Given the description of an element on the screen output the (x, y) to click on. 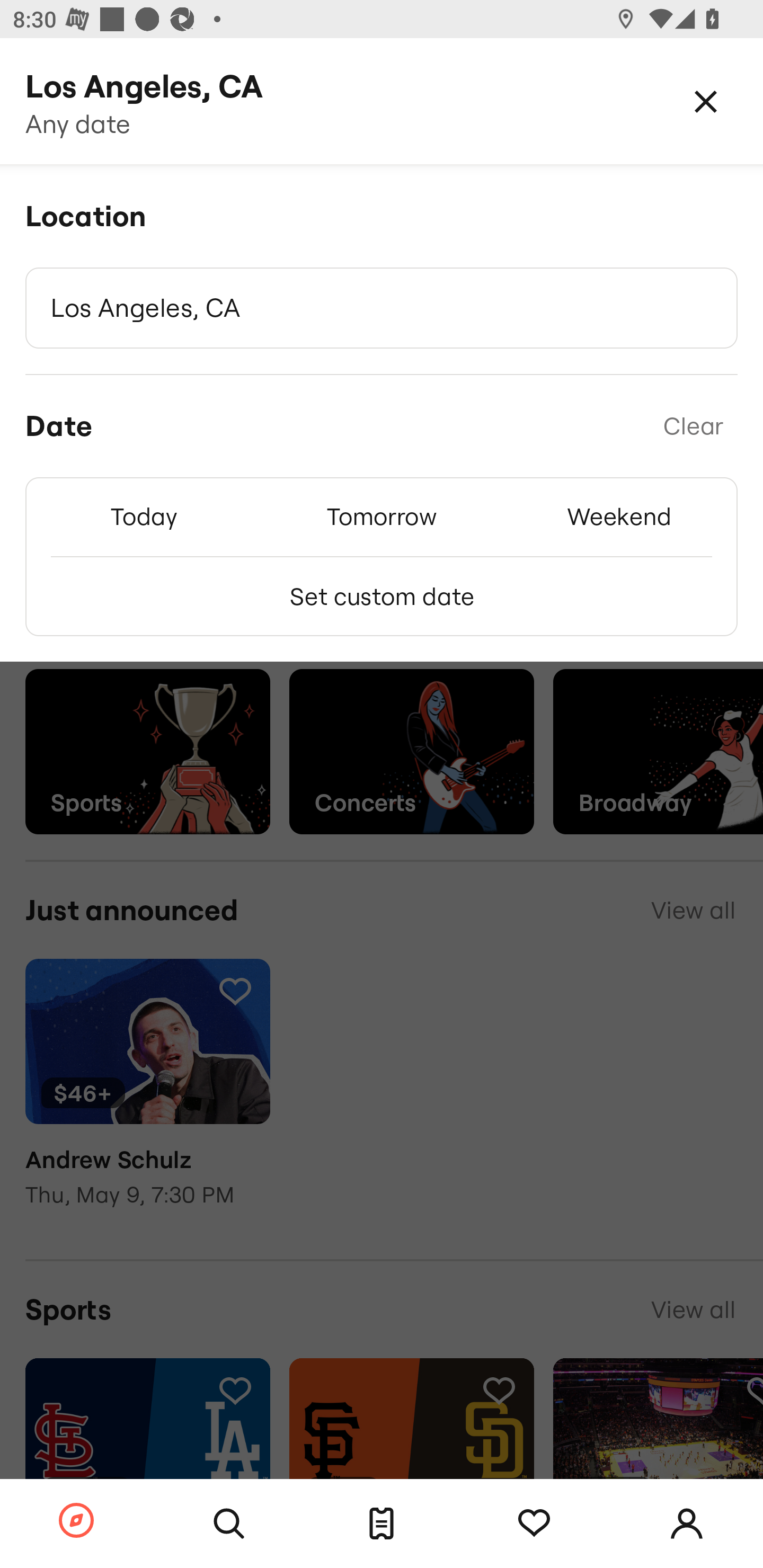
Close (705, 100)
Los Angeles, CA (381, 308)
Clear (693, 426)
Today (143, 516)
Tomorrow (381, 516)
Weekend (618, 516)
Set custom date (381, 596)
Browse (76, 1521)
Search (228, 1523)
Tickets (381, 1523)
Tracking (533, 1523)
Account (686, 1523)
